Given the description of an element on the screen output the (x, y) to click on. 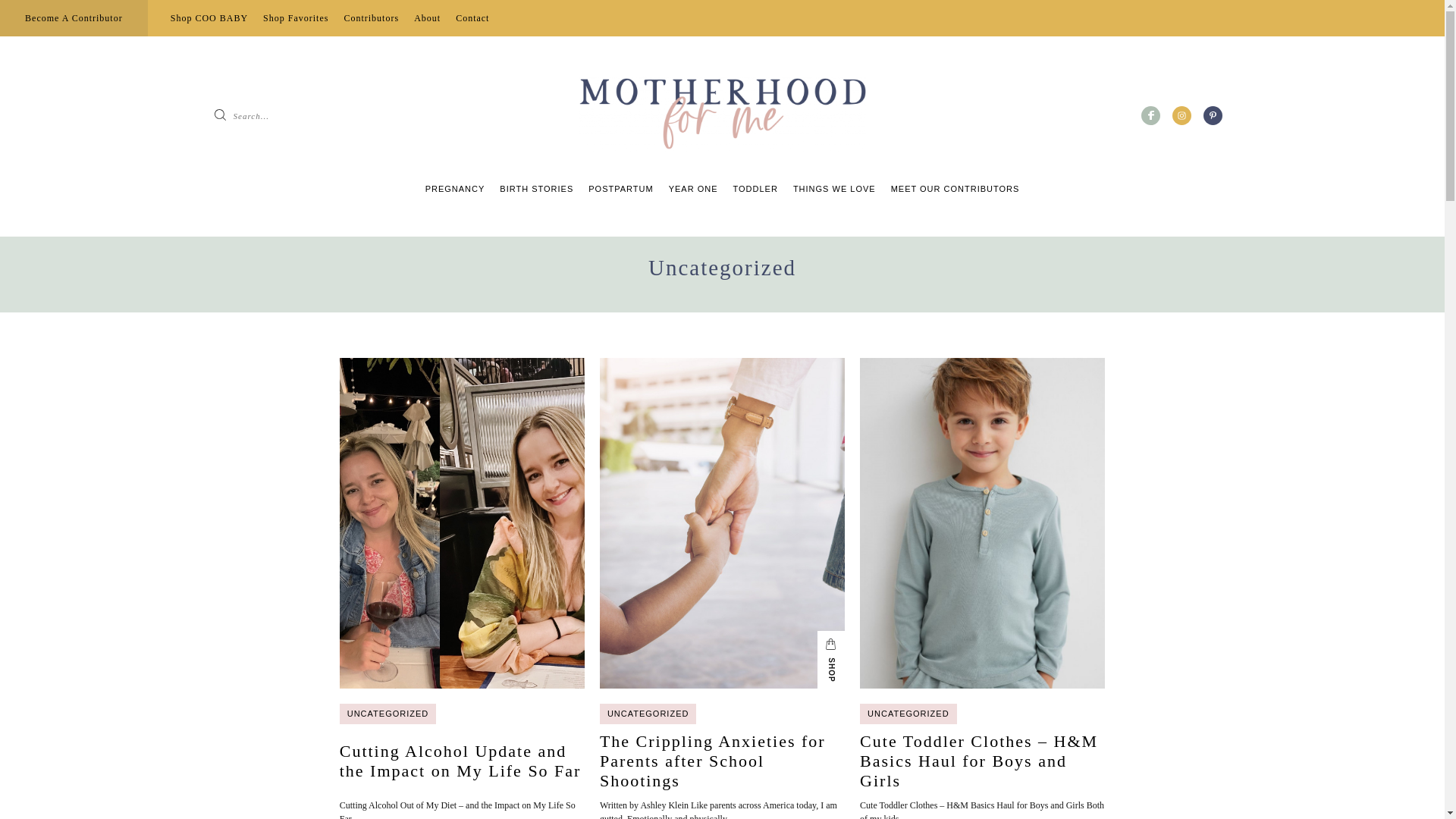
THINGS WE LOVE (834, 188)
Become A Contributor (74, 18)
The Crippling Anxieties for Parents after School Shootings (721, 761)
YEAR ONE (692, 188)
Cutting Alcohol Update and the Impact on My Life So Far (462, 761)
UNCATEGORIZED (908, 713)
Contributors (370, 18)
Shop COO BABY (208, 18)
UNCATEGORIZED (648, 713)
About (427, 18)
